Given the description of an element on the screen output the (x, y) to click on. 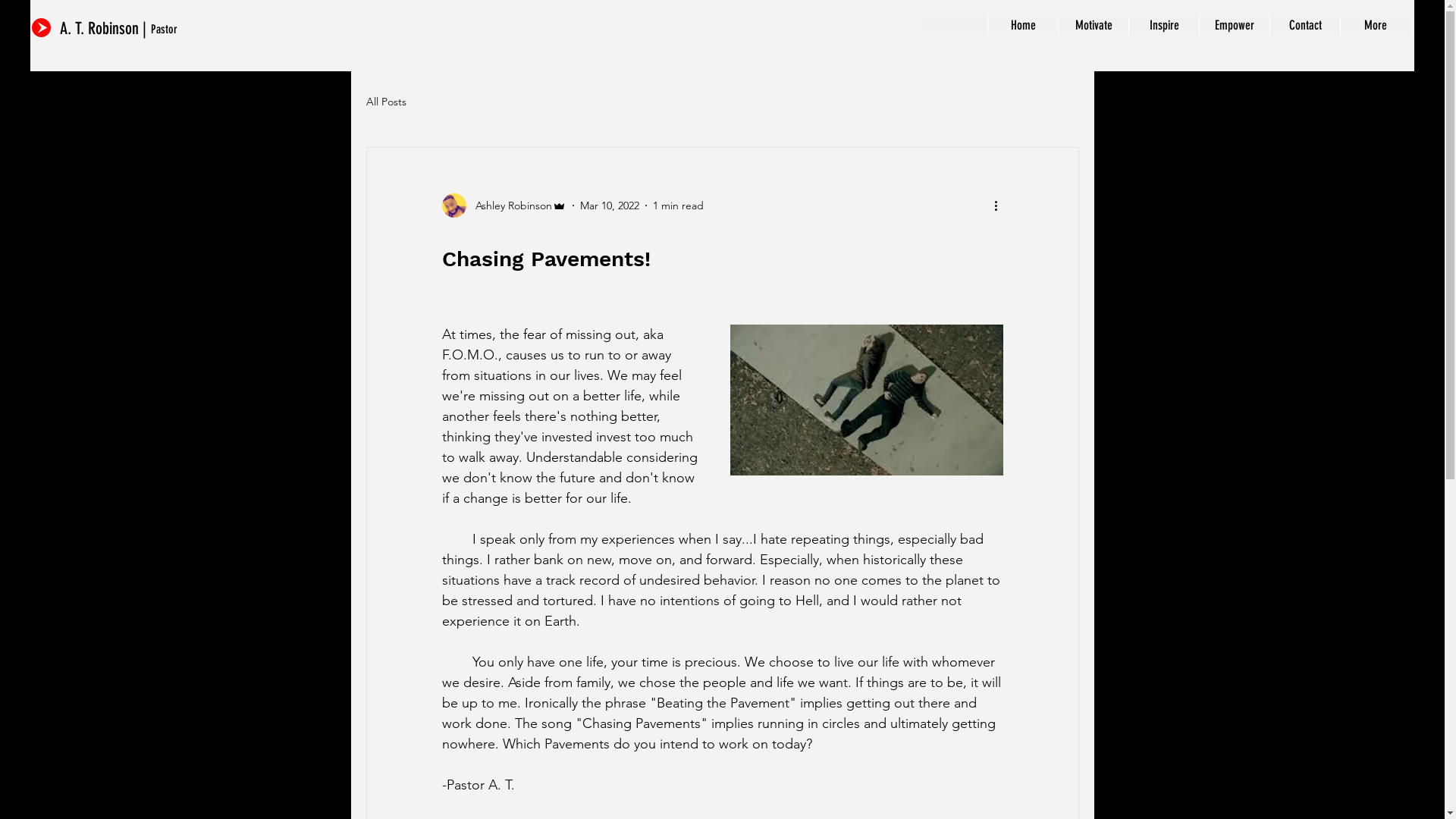
Empower Element type: text (1233, 24)
Inspire Element type: text (1163, 24)
Contact Element type: text (1304, 24)
Home Element type: text (1022, 24)
Motivate Element type: text (1092, 24)
All Posts Element type: text (385, 101)
A. T. Robinson |  Element type: text (104, 28)
Ashley Robinson Element type: text (503, 205)
